Given the description of an element on the screen output the (x, y) to click on. 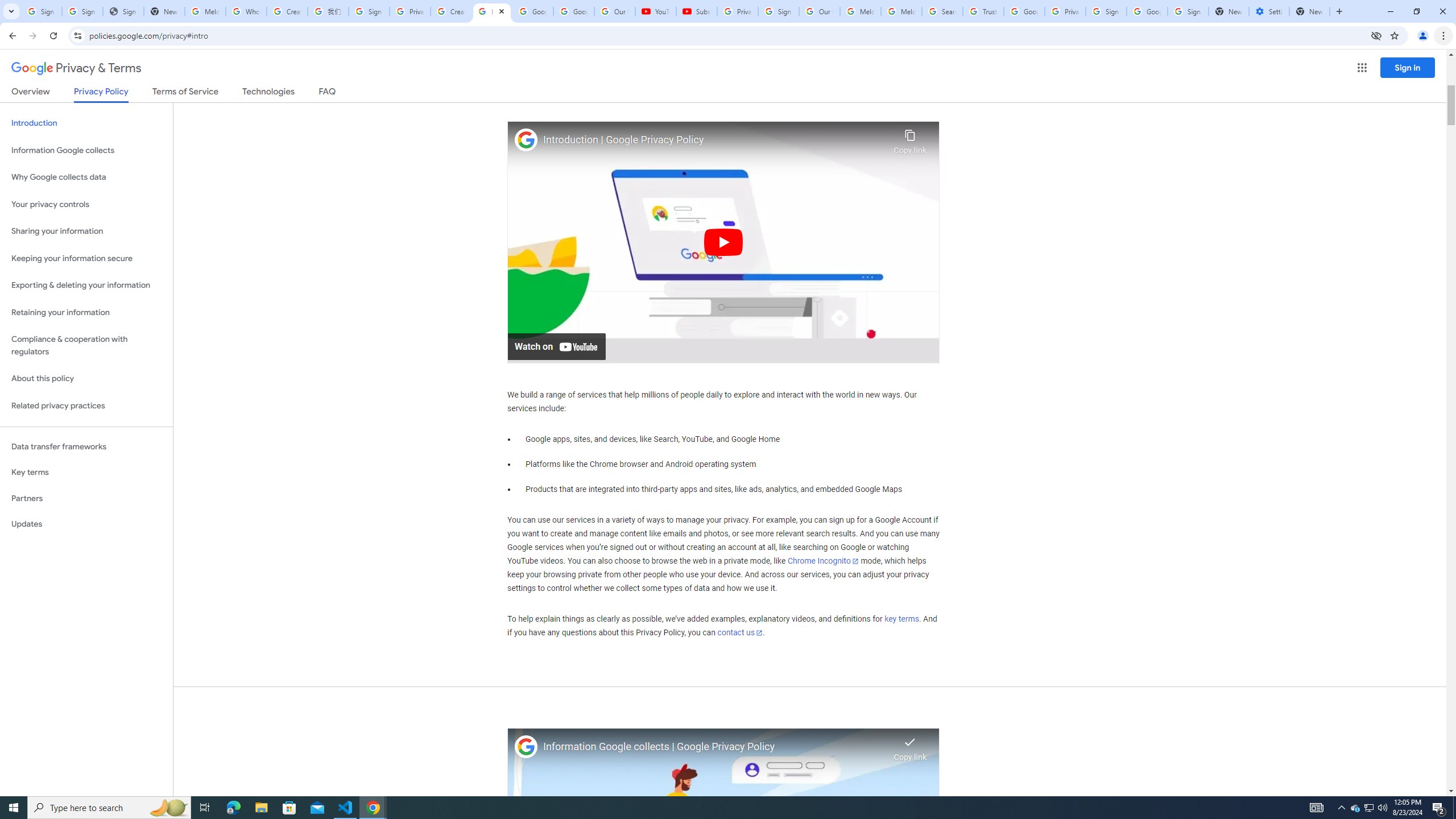
Create your Google Account (450, 11)
Information Google collects | Google Privacy Policy (715, 747)
key terms (900, 619)
Your privacy controls (86, 204)
Who is my administrator? - Google Account Help (246, 11)
Copy link (909, 138)
Google Account (573, 11)
Sign in - Google Accounts (777, 11)
